Given the description of an element on the screen output the (x, y) to click on. 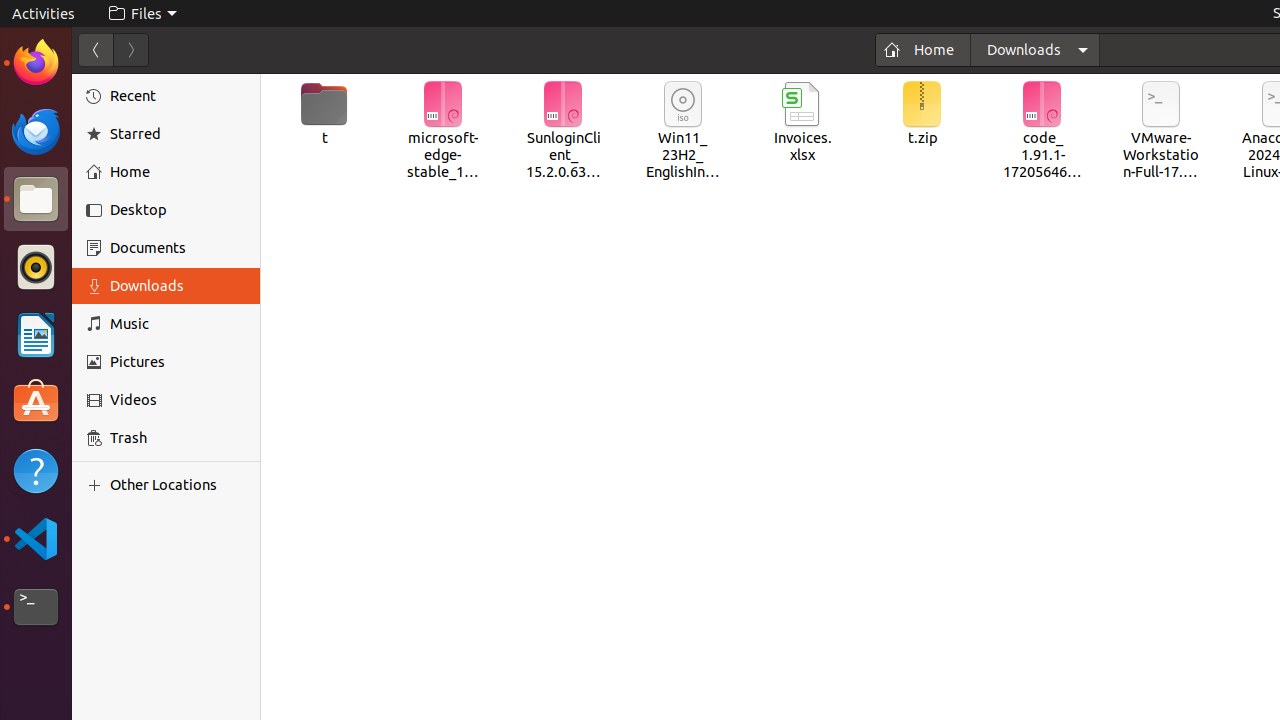
Other Locations Element type: label (178, 485)
Downloads Element type: label (178, 286)
Documents Element type: label (178, 247)
Invoices.xlsx Element type: canvas (802, 123)
